Given the description of an element on the screen output the (x, y) to click on. 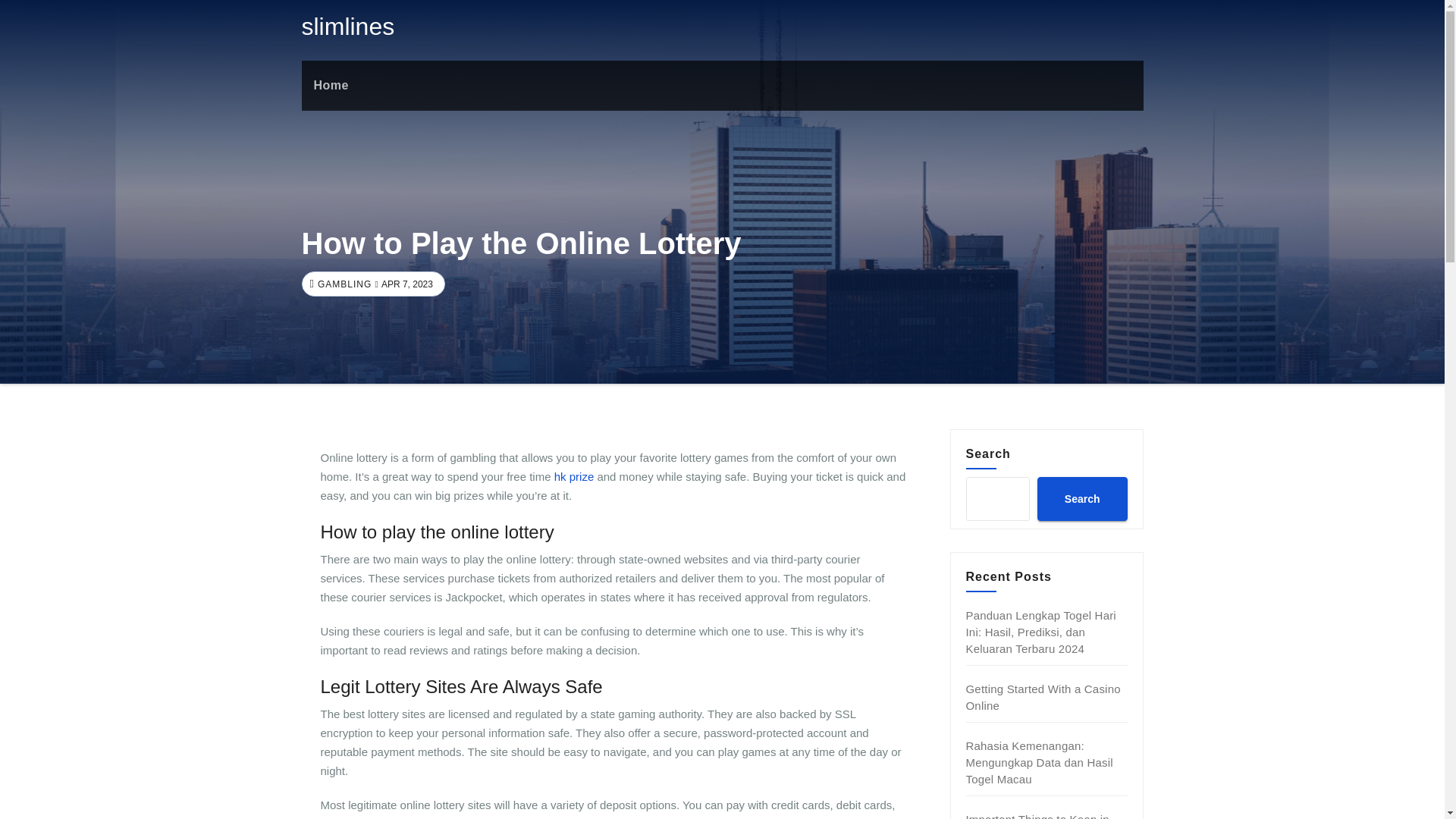
Rahasia Kemenangan: Mengungkap Data dan Hasil Togel Macau (1039, 762)
slimlines (347, 26)
Getting Started With a Casino Online (1043, 696)
hk prize (574, 476)
GAMBLING (342, 284)
Search (1081, 498)
Home (331, 85)
Home (331, 85)
